Given the description of an element on the screen output the (x, y) to click on. 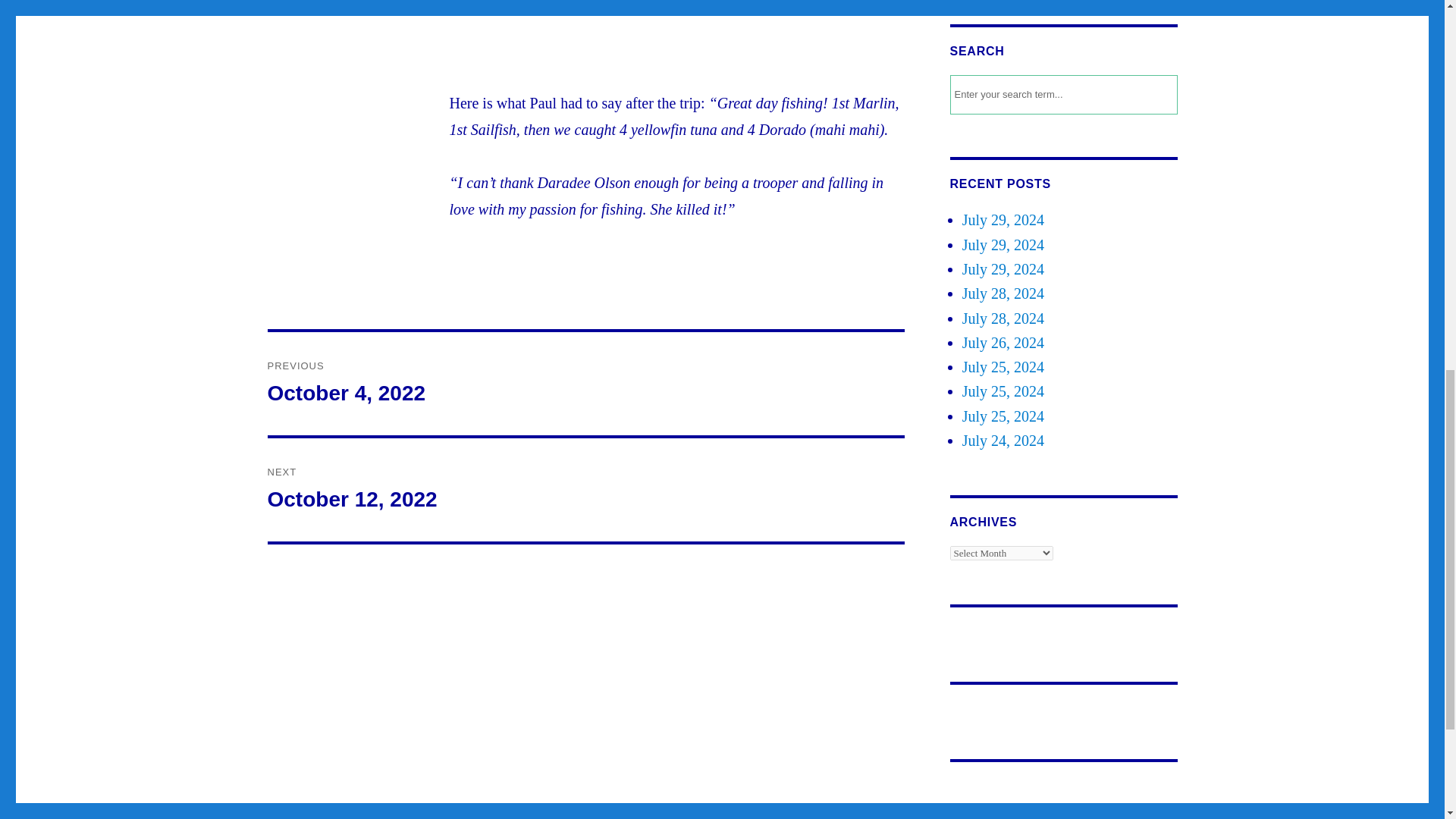
July 24, 2024 (585, 489)
July 29, 2024 (1002, 440)
July 25, 2024 (1002, 244)
July 25, 2024 (1002, 366)
July 29, 2024 (1002, 391)
July 29, 2024 (1002, 219)
July 28, 2024 (1002, 269)
July 25, 2024 (1002, 318)
July 28, 2024 (1002, 416)
July 26, 2024 (1002, 293)
